Given the description of an element on the screen output the (x, y) to click on. 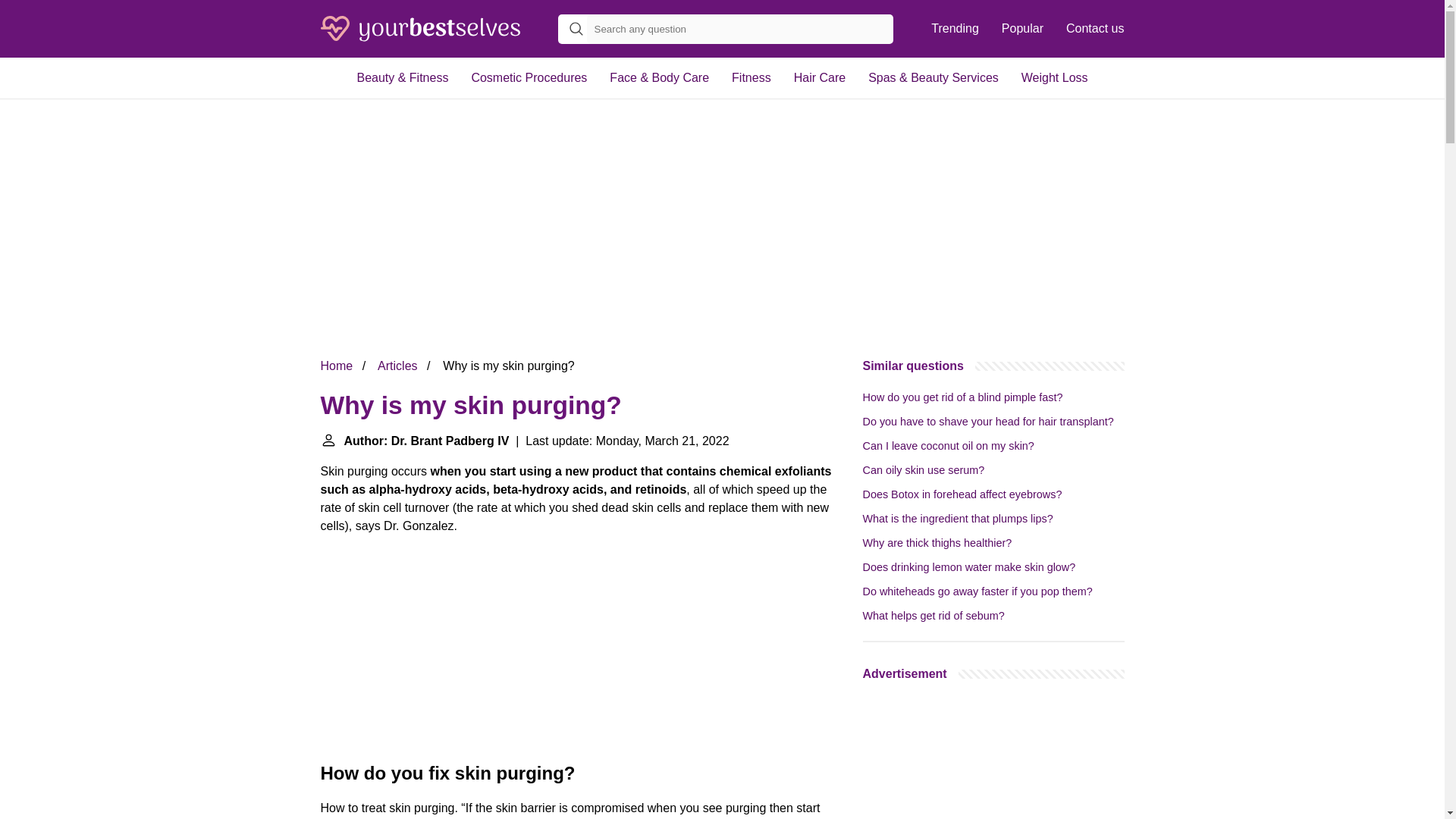
Articles (396, 365)
What is the ingredient that plumps lips? (957, 518)
Advertisement (993, 758)
Does Botox in forehead affect eyebrows? (962, 494)
Hair Care (820, 77)
What helps get rid of sebum? (933, 615)
Contact us (1094, 28)
Popular (1022, 28)
How do you get rid of a blind pimple fast? (962, 397)
Home (336, 365)
Why are thick thighs healthier? (937, 542)
Do whiteheads go away faster if you pop them? (978, 591)
Cosmetic Procedures (529, 77)
Fitness (751, 77)
